Given the description of an element on the screen output the (x, y) to click on. 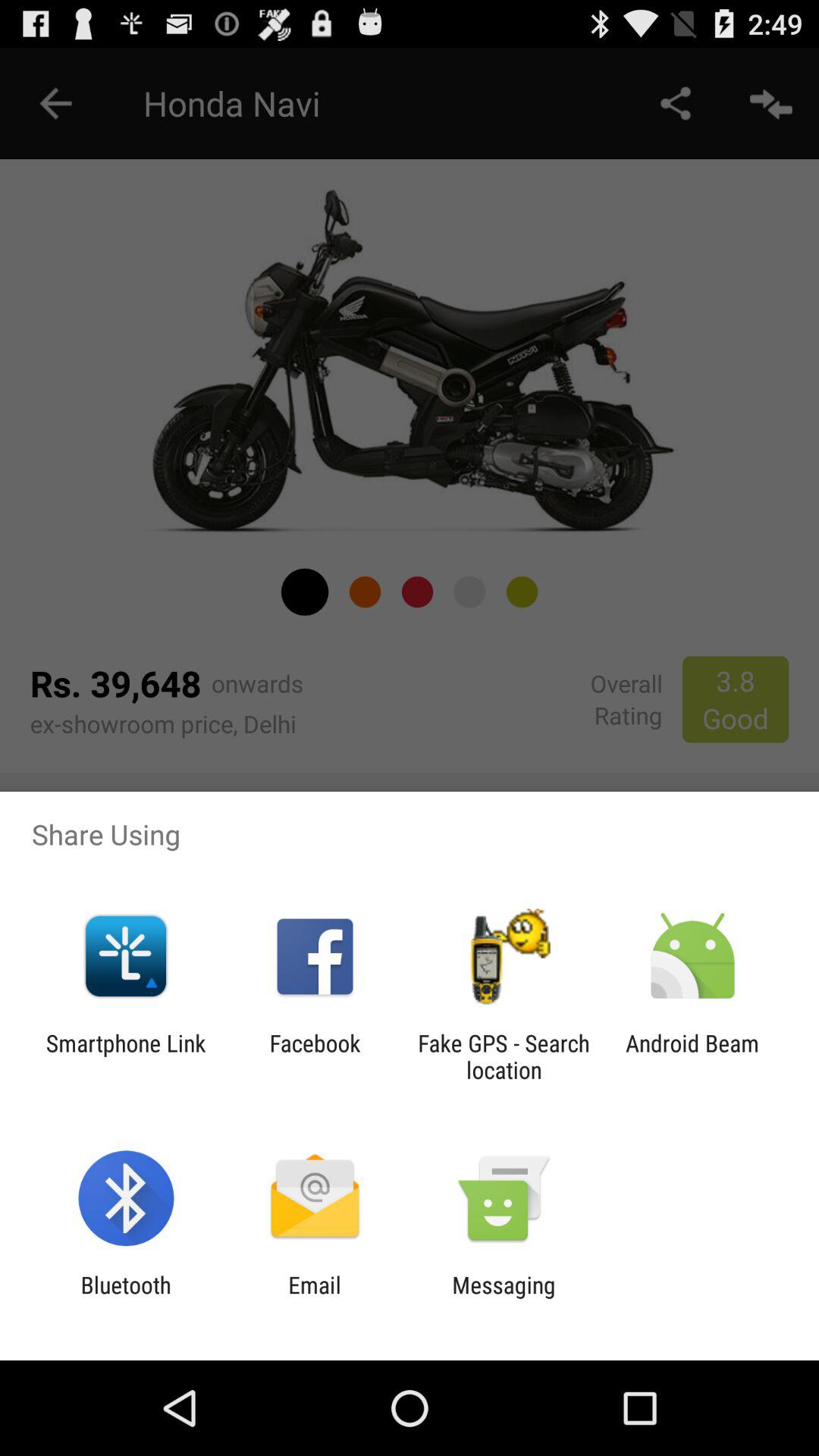
flip to facebook app (314, 1056)
